Given the description of an element on the screen output the (x, y) to click on. 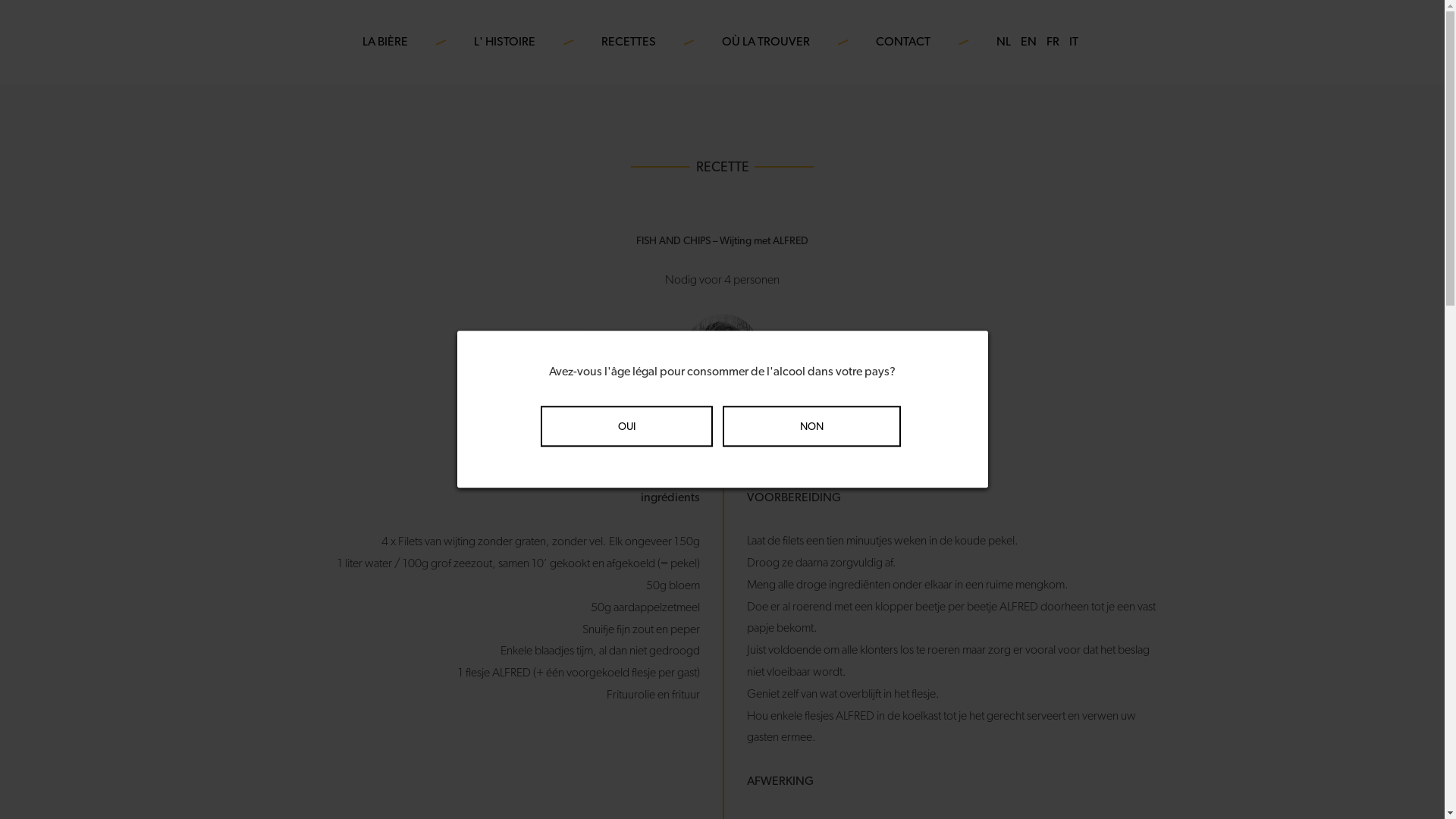
L' HISTOIRE Element type: text (504, 41)
EN Element type: text (1028, 41)
IT Element type: text (1073, 41)
NL Element type: text (1003, 41)
FR Element type: text (1052, 41)
NON Element type: text (810, 426)
CONTACT Element type: text (902, 41)
OUI Element type: text (625, 426)
RECETTES Element type: text (628, 41)
